Given the description of an element on the screen output the (x, y) to click on. 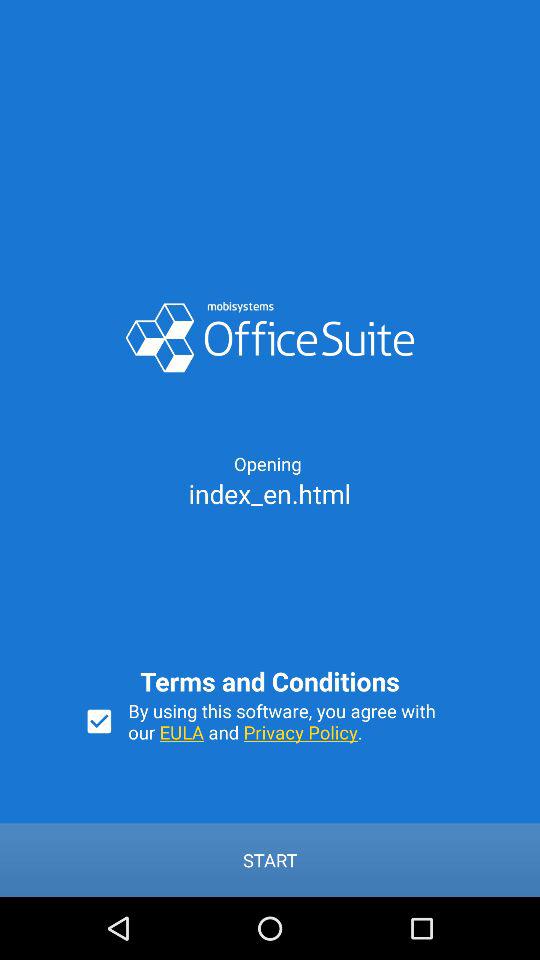
tap the item below the by using this (270, 859)
